Given the description of an element on the screen output the (x, y) to click on. 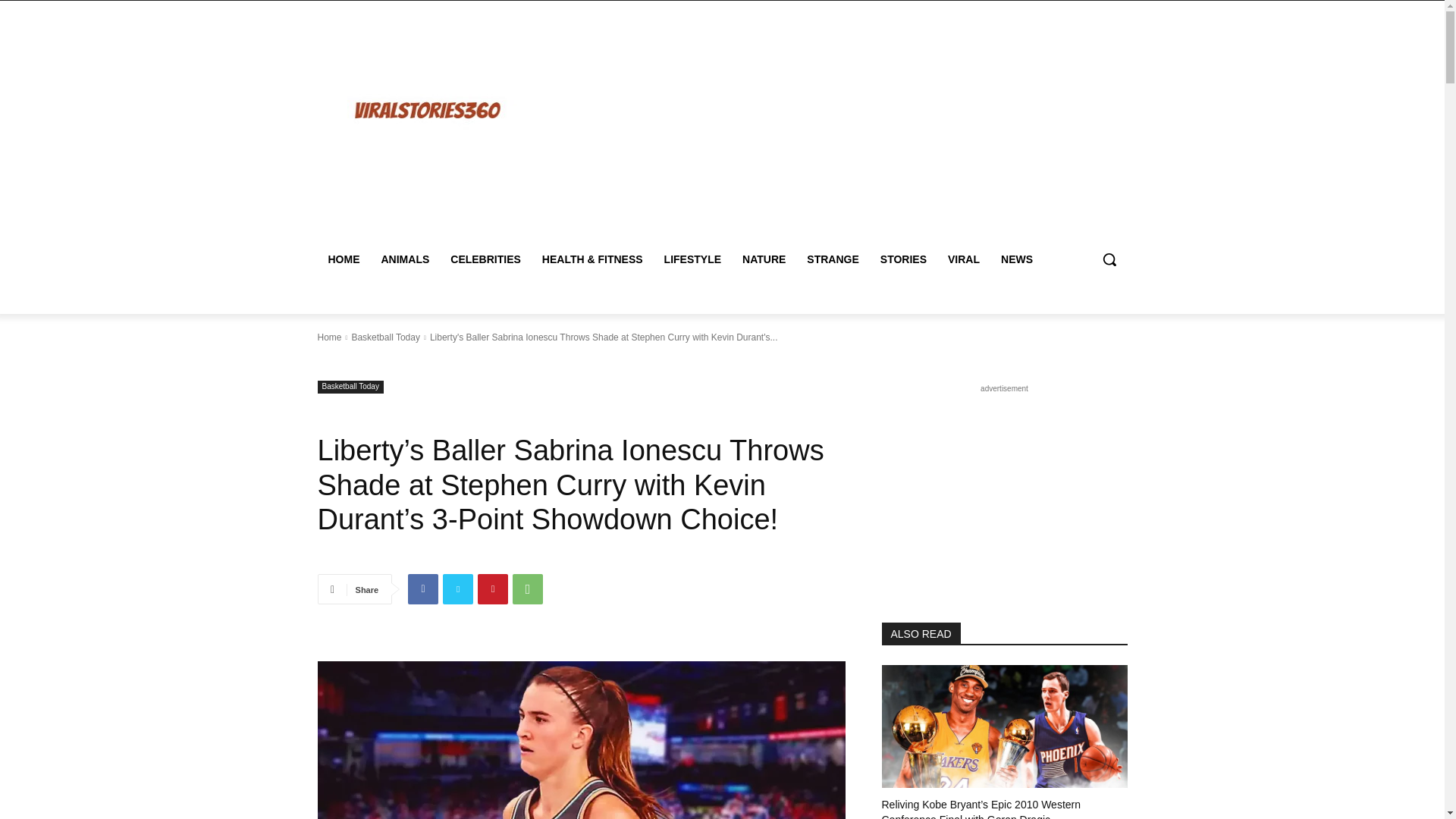
STORIES (903, 258)
LIFESTYLE (692, 258)
Basketball Today (385, 337)
Twitter (457, 589)
Facebook (422, 589)
ANIMALS (404, 258)
NEWS (1016, 258)
Advertisement (854, 128)
HOME (343, 258)
STRANGE (832, 258)
WhatsApp (527, 589)
CELEBRITIES (485, 258)
Home (328, 337)
Pinterest (492, 589)
VIRAL (963, 258)
